Given the description of an element on the screen output the (x, y) to click on. 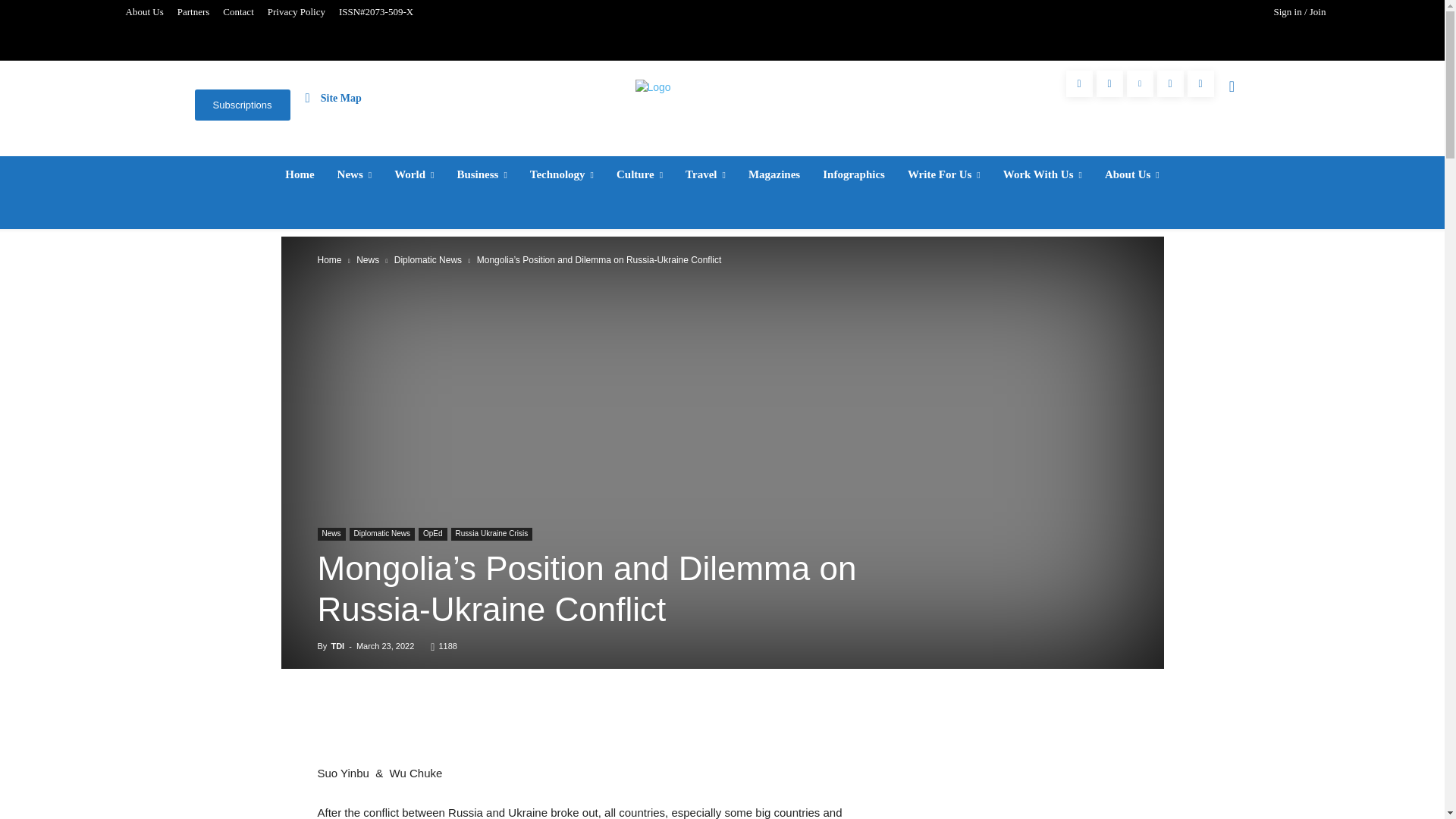
Linkedin (1139, 82)
Twitter (1170, 82)
Instagram (1109, 82)
View all posts in Diplomatic News (427, 259)
View all posts in News (367, 259)
Site Map (333, 97)
Youtube (1201, 82)
Facebook (1079, 82)
Subscriptions (241, 104)
